Given the description of an element on the screen output the (x, y) to click on. 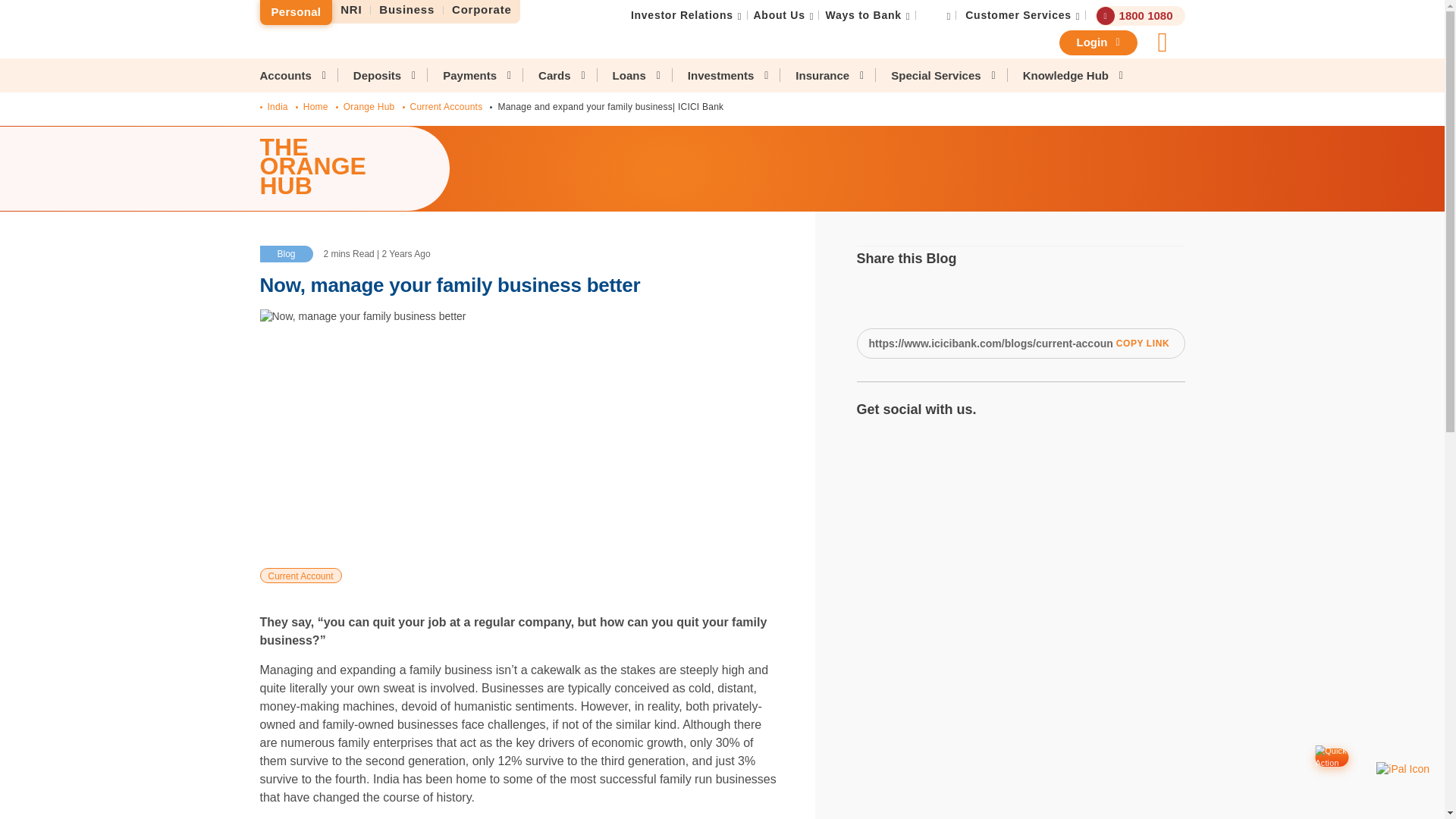
About Us (779, 15)
Investor Relations (681, 15)
Ways to Bank (863, 15)
Personal (295, 12)
Corporate (481, 9)
Customer Services (1018, 15)
NRI (351, 9)
Business (407, 9)
